Given the description of an element on the screen output the (x, y) to click on. 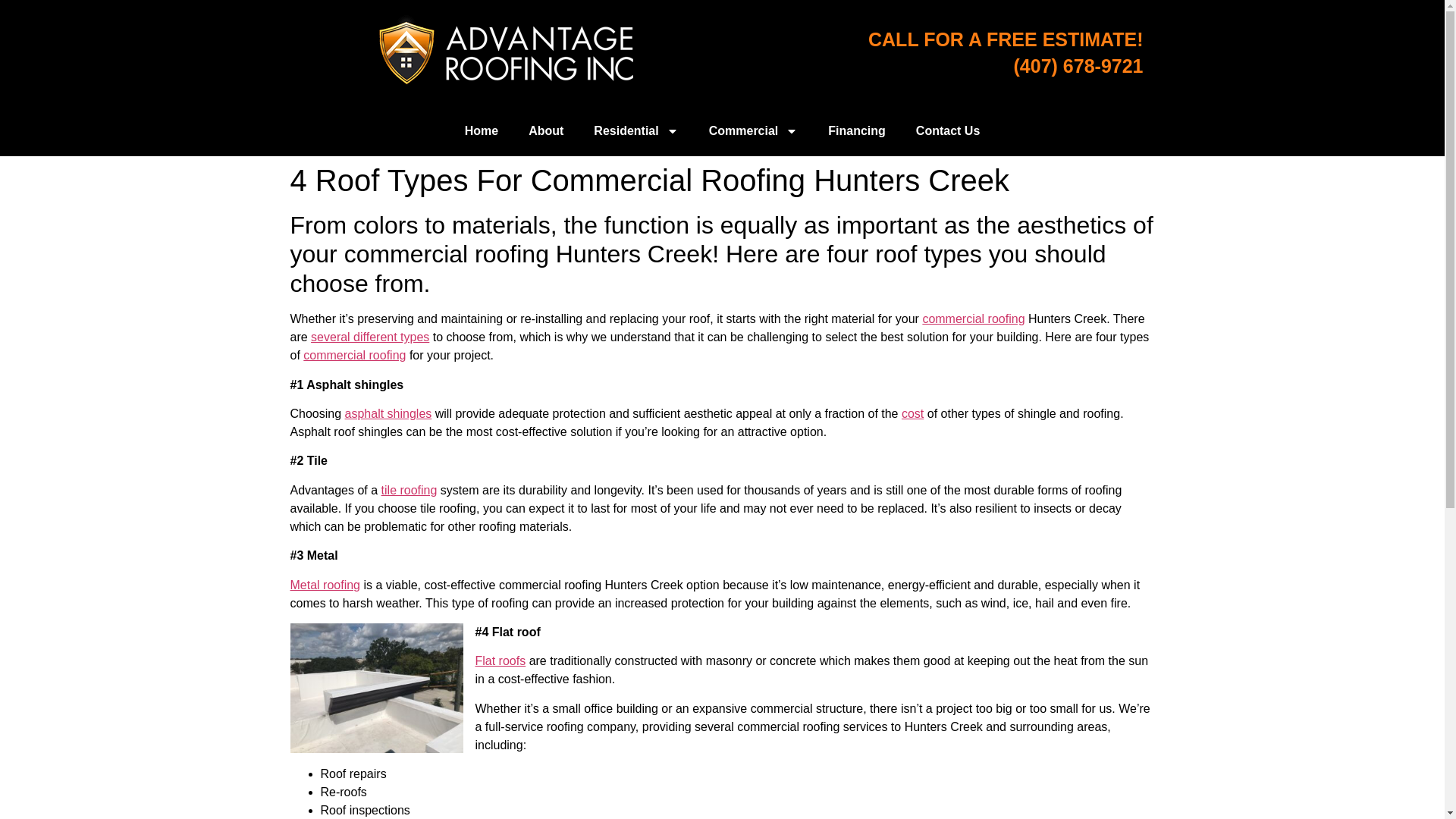
Contact Us (947, 130)
asphalt shingles (388, 413)
commercial roofing (354, 354)
tile roofing (409, 490)
About (545, 130)
Residential (635, 130)
several different types (370, 336)
Commercial (753, 130)
Home (481, 130)
commercial roofing (973, 318)
cost (912, 413)
Financing (856, 130)
